Given the description of an element on the screen output the (x, y) to click on. 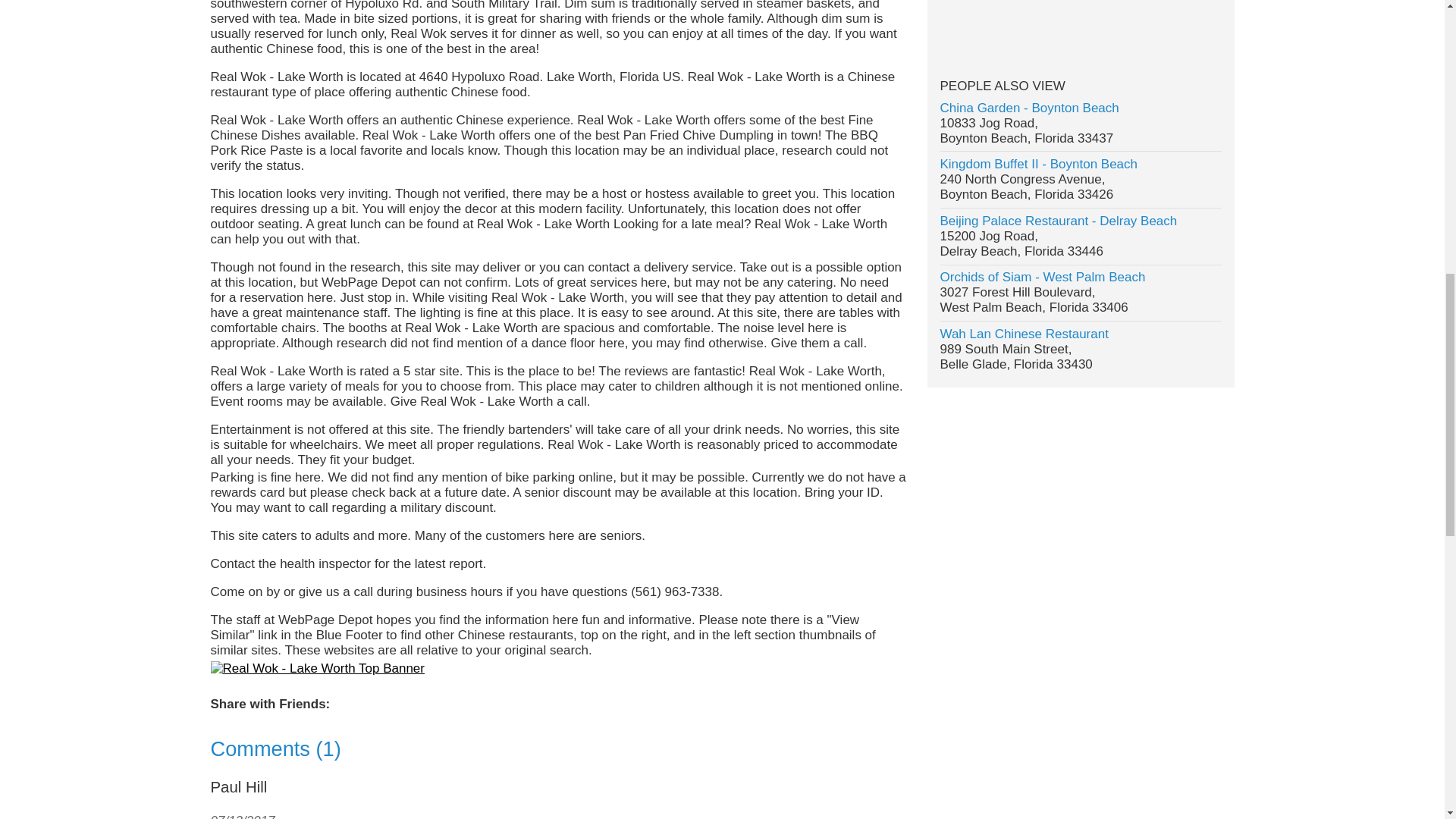
Share on LinkedIn (415, 705)
yellowpages (1137, 19)
instagram (986, 19)
Beijing Palace Restaurant - Delray Beach (1058, 220)
youtube (1045, 19)
yelp (1076, 19)
Orchids of Siam - West Palm Beach (1042, 277)
tripadvisor-social (1197, 19)
China Garden - Boynton Beach (1029, 107)
pinterest (1015, 19)
